Given the description of an element on the screen output the (x, y) to click on. 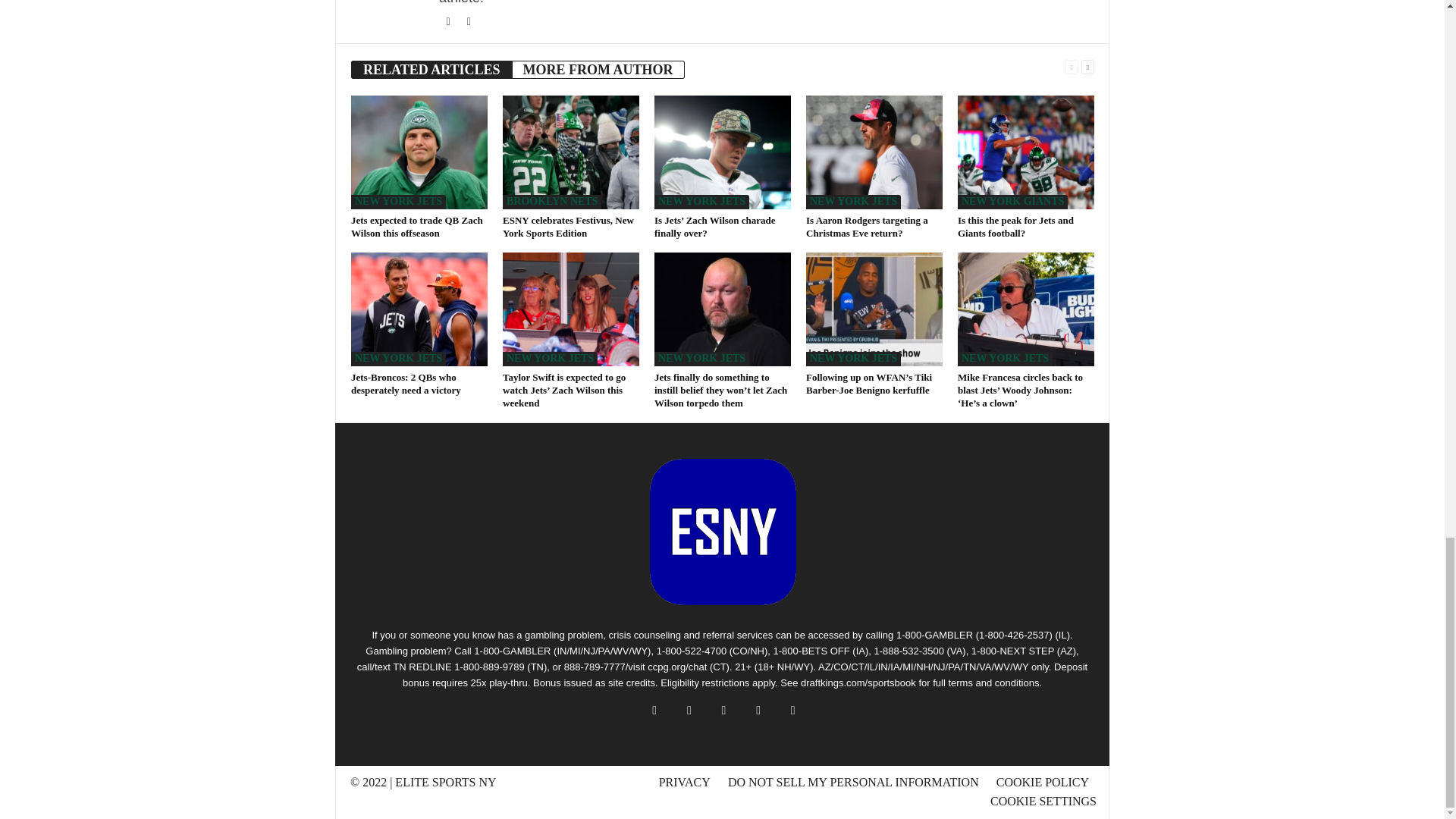
ESNY celebrates Festivus, New York Sports Edition (570, 152)
Linkedin (468, 21)
Twitter (449, 21)
Jets expected to trade QB Zach Wilson this offseason (416, 226)
Jets expected to trade QB Zach Wilson this offseason (418, 152)
